Given the description of an element on the screen output the (x, y) to click on. 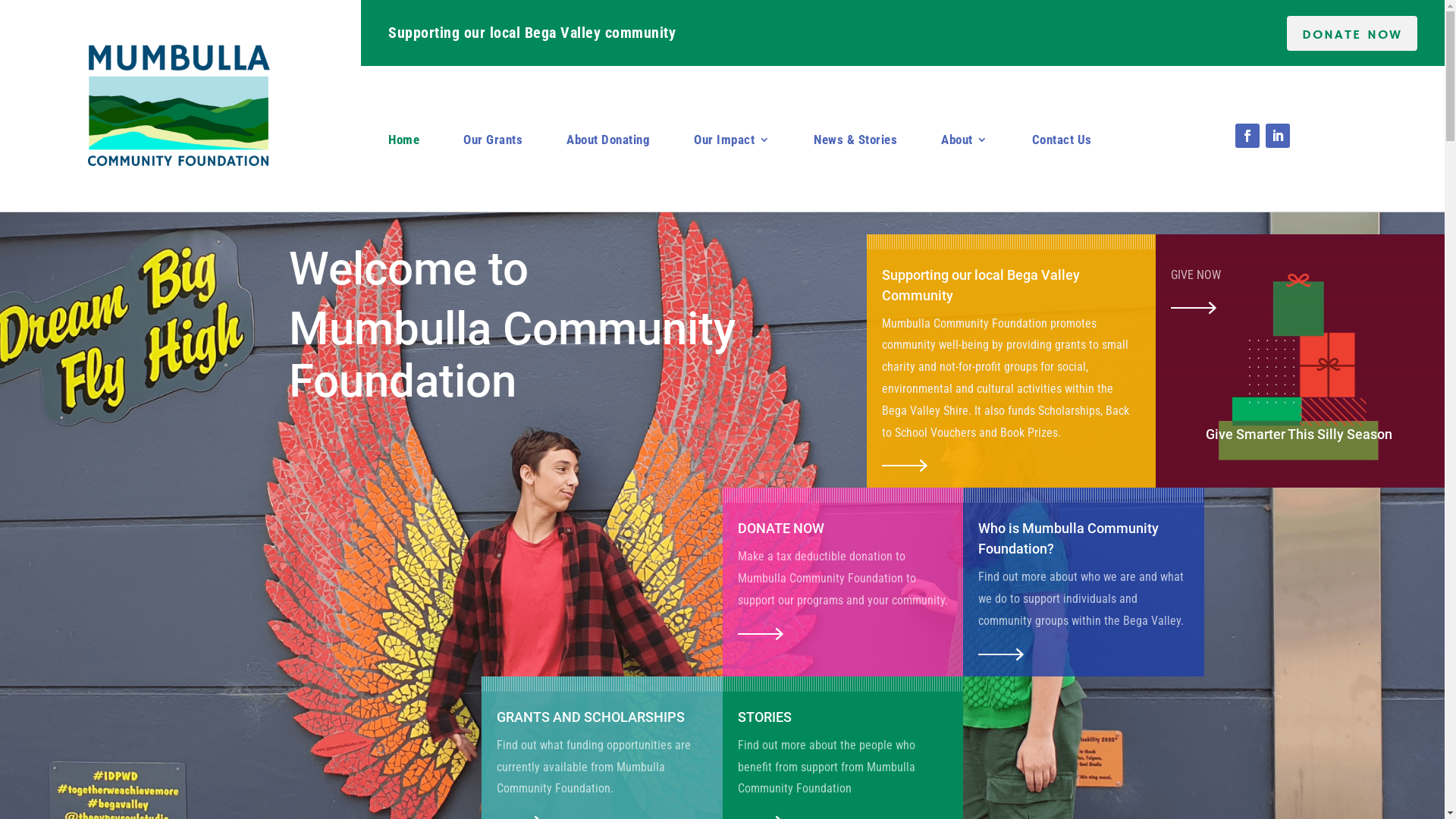
News & Stories Element type: text (855, 142)
high-school_26 Element type: hover (904, 465)
Home Element type: text (403, 142)
Follow on LinkedIn Element type: hover (1277, 135)
About Donating Element type: text (607, 142)
high-school_26 Element type: hover (1000, 654)
Contact Us Element type: text (1062, 142)
DONATE NOW Element type: text (1351, 32)
About Element type: text (964, 142)
high-school_26 Element type: hover (1193, 307)
Follow on Facebook Element type: hover (1247, 135)
Our Grants Element type: text (492, 142)
Our Impact Element type: text (731, 142)
Mumbulla Community Foundation logo Element type: hover (178, 105)
high-school_26 Element type: hover (759, 633)
